Given the description of an element on the screen output the (x, y) to click on. 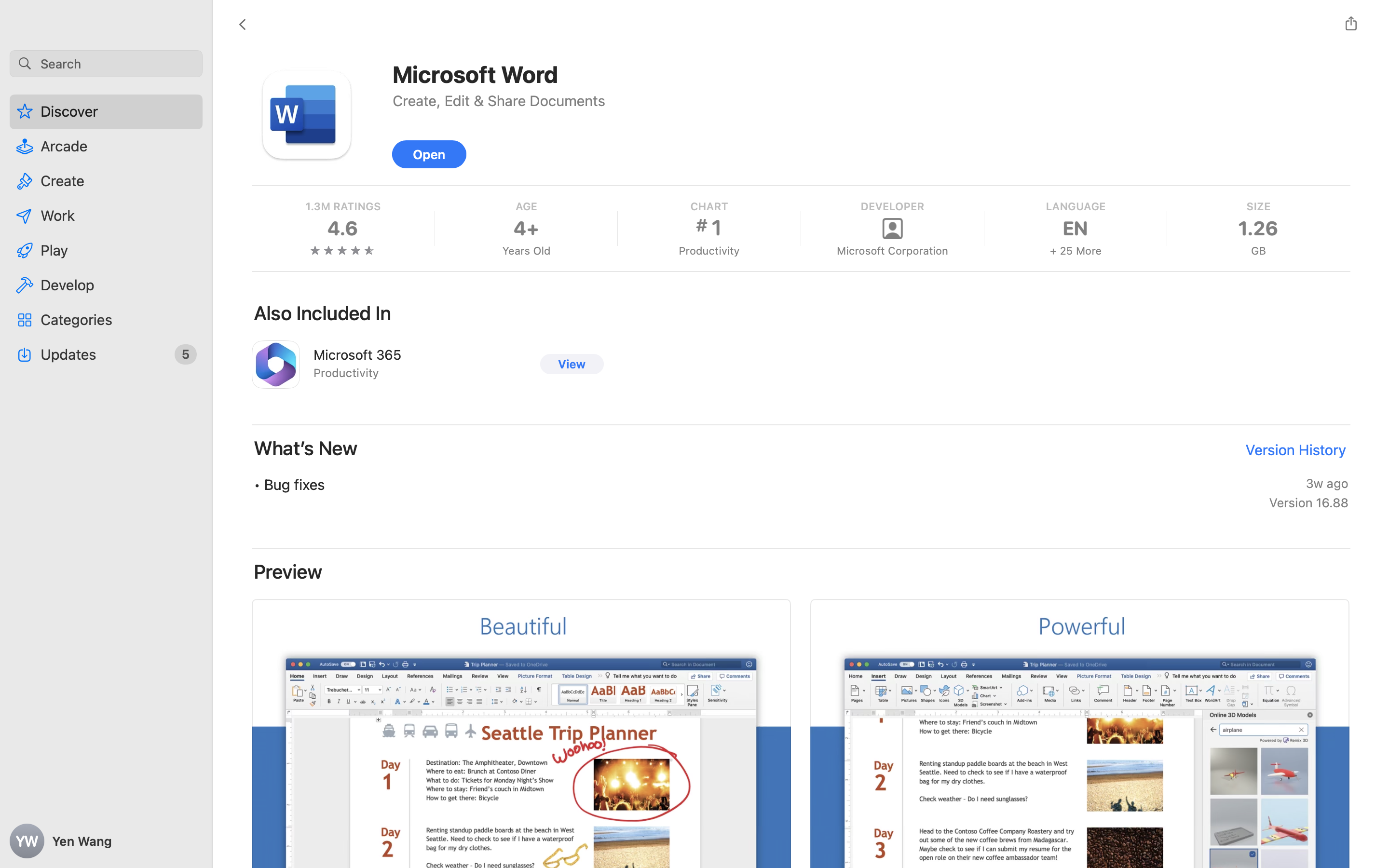
+ 25 More, LANGUAGE, EN Element type: AXStaticText (1074, 228)
4+ Element type: AXStaticText (526, 228)
What’s New Element type: AXStaticText (305, 448)
DEVELOPER Element type: AXStaticText (891, 206)
four and three quarters stars Element type: AXStaticText (342, 249)
